Given the description of an element on the screen output the (x, y) to click on. 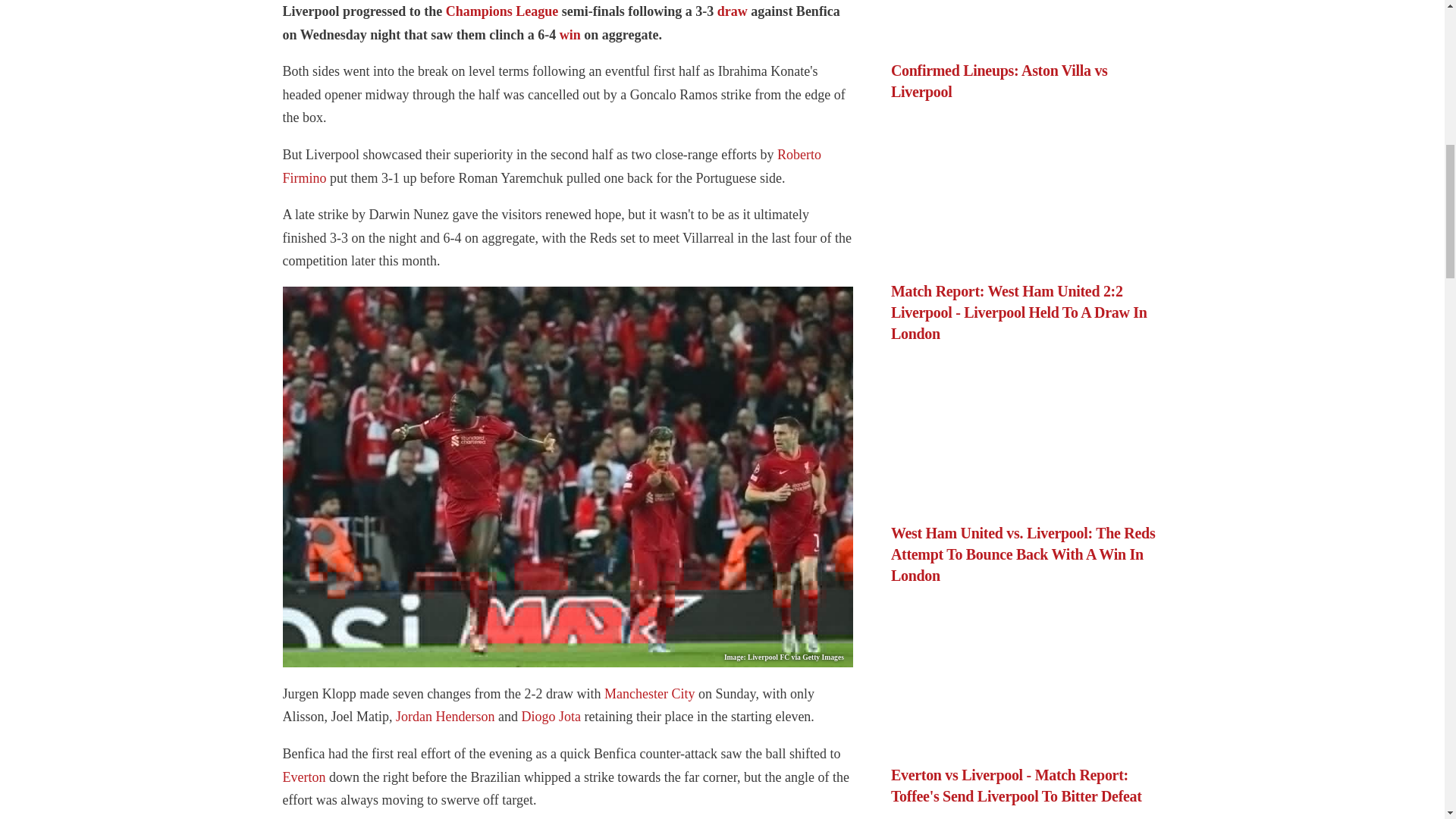
Related Liverpool FC news and insights (649, 693)
Related Liverpool FC news and insights (551, 166)
Related Liverpool FC news and insights (445, 716)
Related Liverpool FC news and insights (732, 11)
Related Liverpool FC news and insights (303, 776)
Related Liverpool FC news and insights (550, 716)
Related Liverpool FC news and insights (569, 34)
Related Liverpool FC news and insights (502, 11)
